Given the description of an element on the screen output the (x, y) to click on. 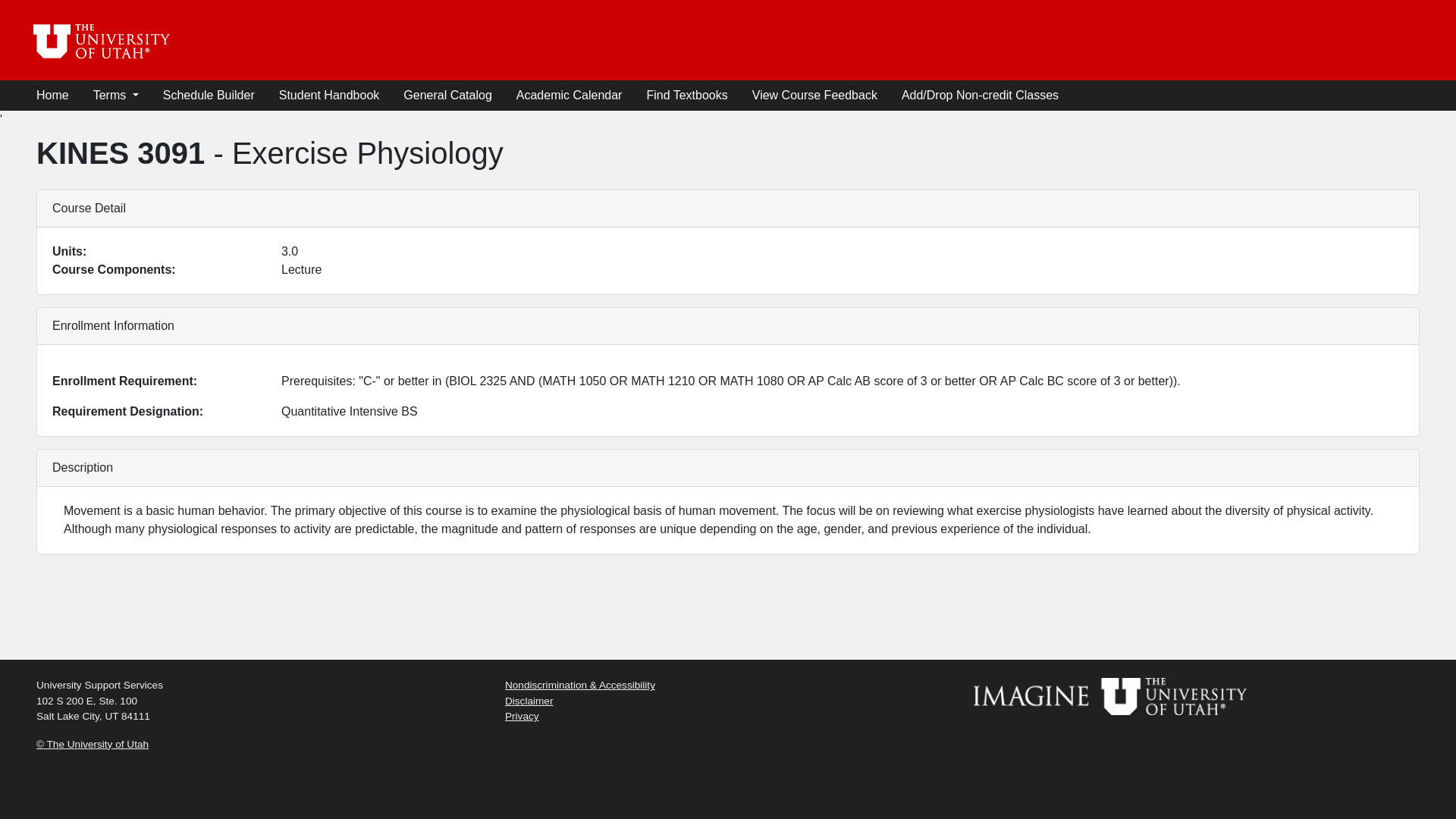
Schedule Builder (208, 95)
Academic Calendar (569, 95)
General Catalog (447, 95)
Disclaimer (529, 700)
Student Handbook (329, 95)
View Course Feedback (814, 95)
Home (52, 95)
Privacy (521, 715)
Terms (115, 95)
Find Textbooks (686, 95)
